Given the description of an element on the screen output the (x, y) to click on. 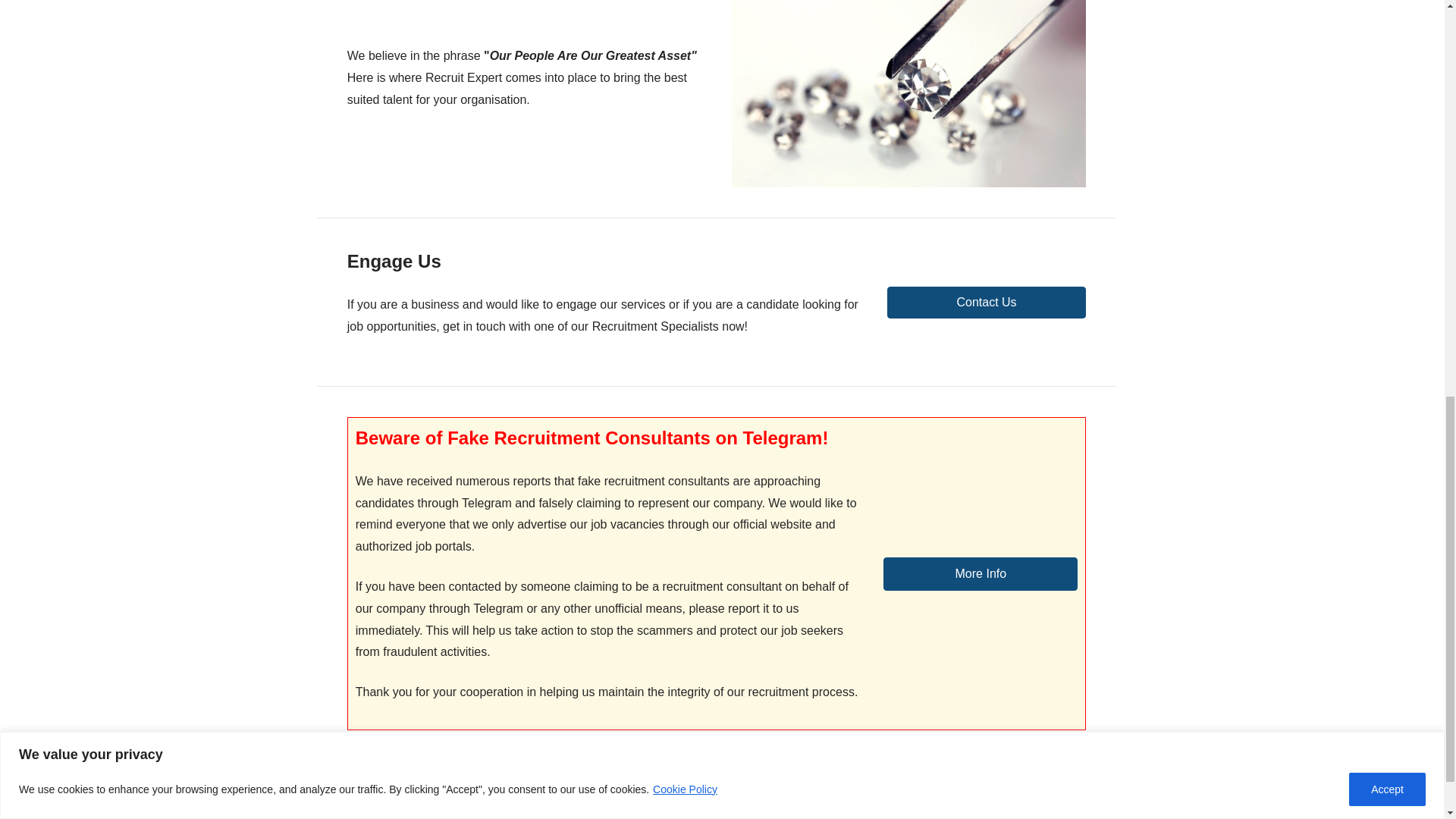
More Info (980, 573)
Privacy Statement (521, 807)
Contact Us (986, 302)
qtq80-6JBeIx (909, 94)
